Given the description of an element on the screen output the (x, y) to click on. 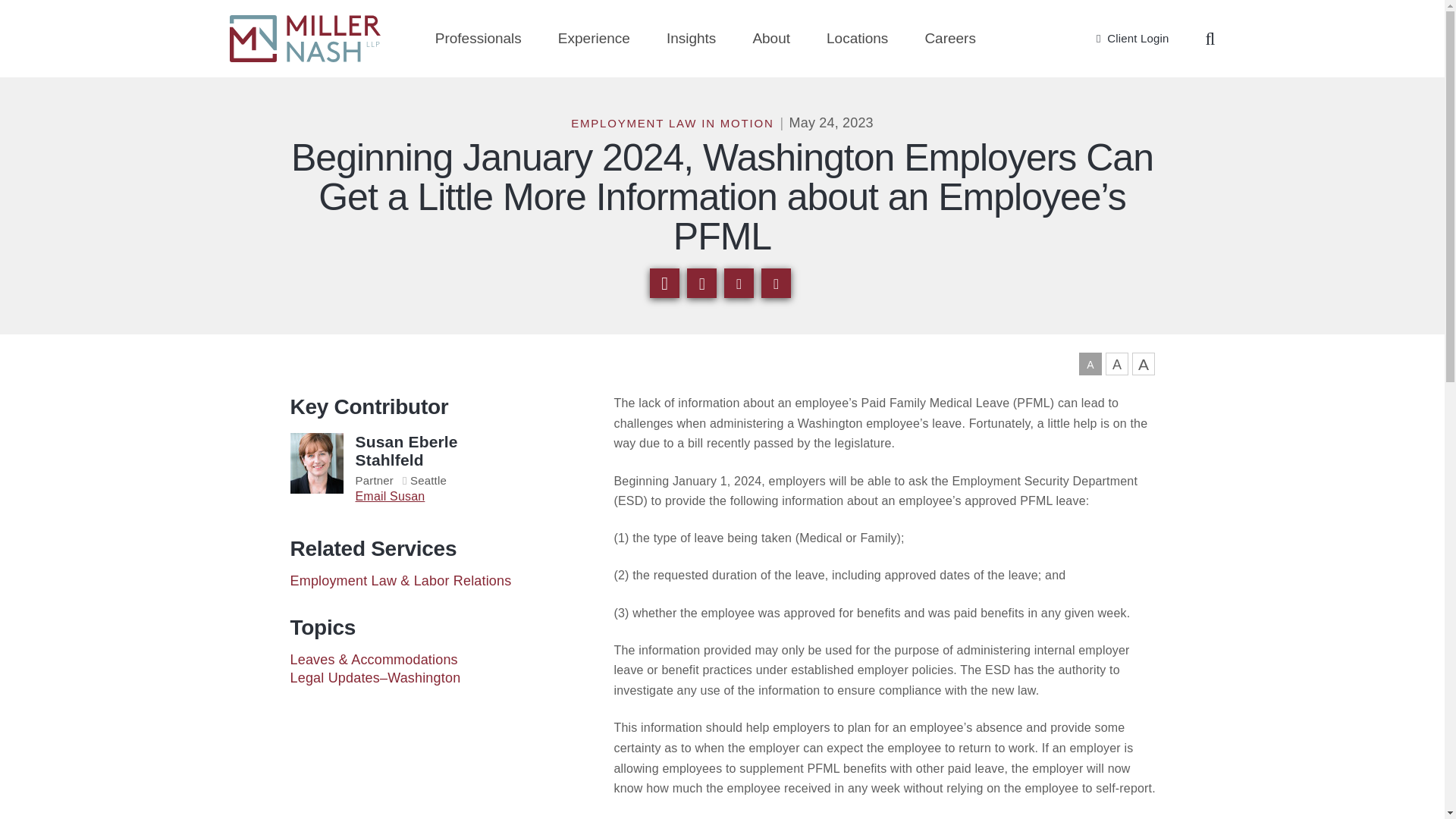
Adjust Text Size - Larger (1116, 363)
Adjust Text Size - Largest (1142, 363)
More Sharing Options (701, 283)
Share via LinkedIn (738, 283)
Share via Twitter (775, 283)
Share via Email (664, 283)
Adjust Text Size - Normal (1089, 363)
